Given the description of an element on the screen output the (x, y) to click on. 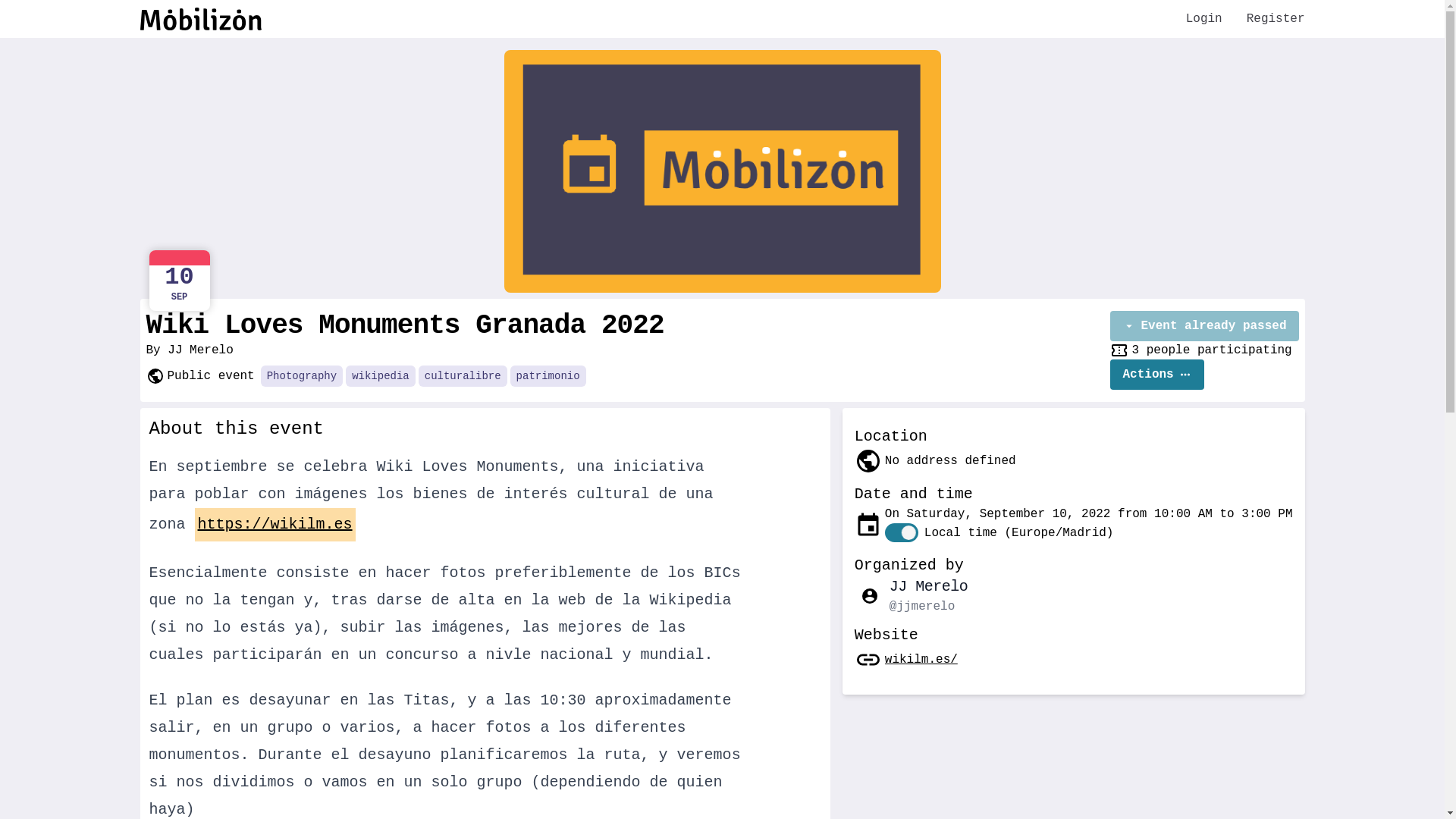
https://wikilm.es Element type: text (274, 524)
Register Element type: text (1275, 18)
wikipedia Element type: text (380, 375)
Actions Element type: text (1156, 374)
culturalibre Element type: text (462, 375)
Login Element type: text (1204, 18)
patrimonio Element type: text (548, 375)
Event already passed Element type: text (1204, 325)
wikilm.es/ Element type: text (920, 659)
